Given the description of an element on the screen output the (x, y) to click on. 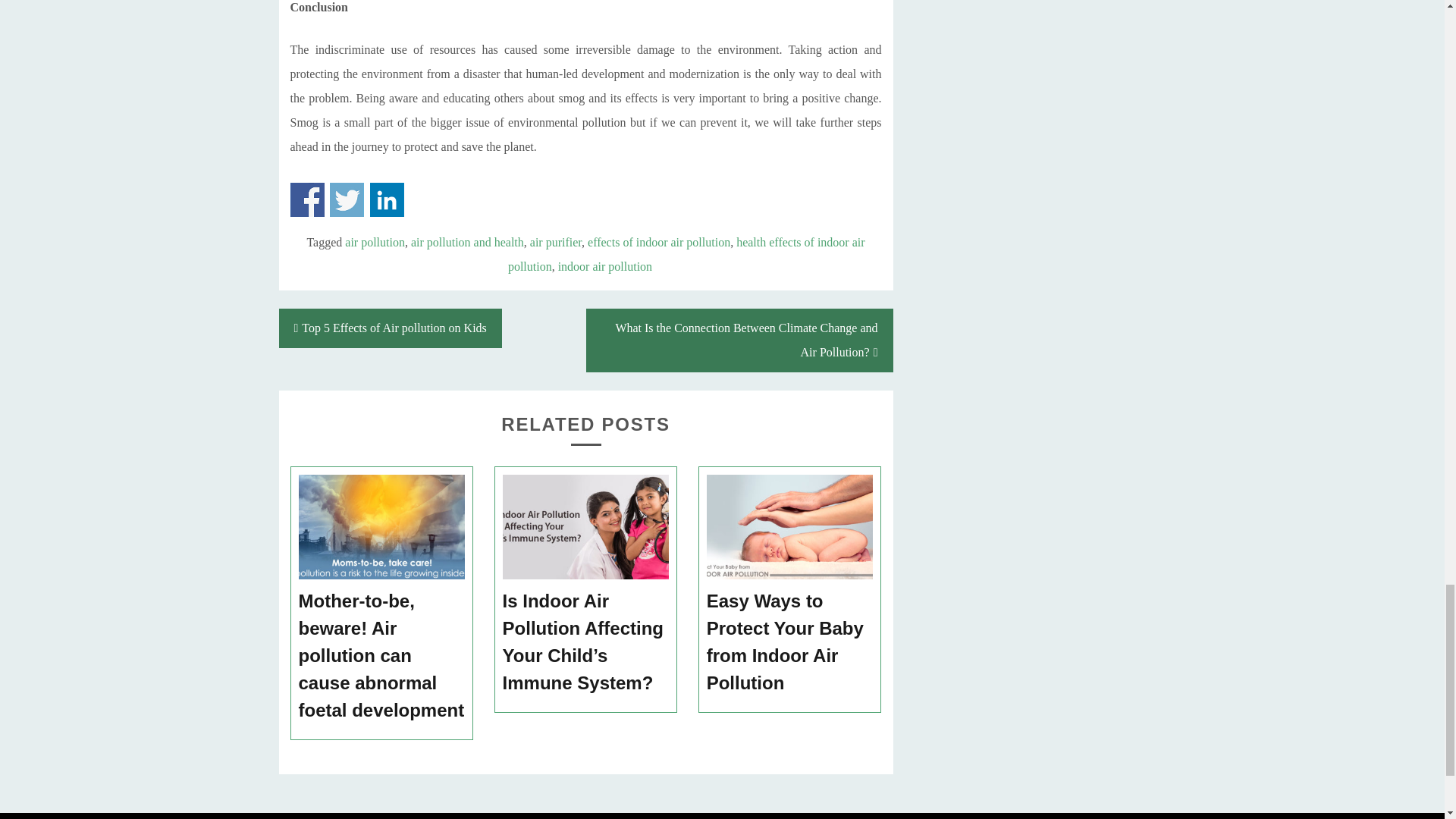
health effects of indoor air pollution (686, 253)
Top 5 Effects of Air pollution on Kids (390, 328)
Share on Linkedin (386, 199)
Share on Facebook (306, 199)
indoor air pollution (604, 266)
air pollution (374, 241)
air purifier (554, 241)
effects of indoor air pollution (659, 241)
Easy Ways to Protect Your Baby from Indoor Air Pollution (789, 642)
